Given the description of an element on the screen output the (x, y) to click on. 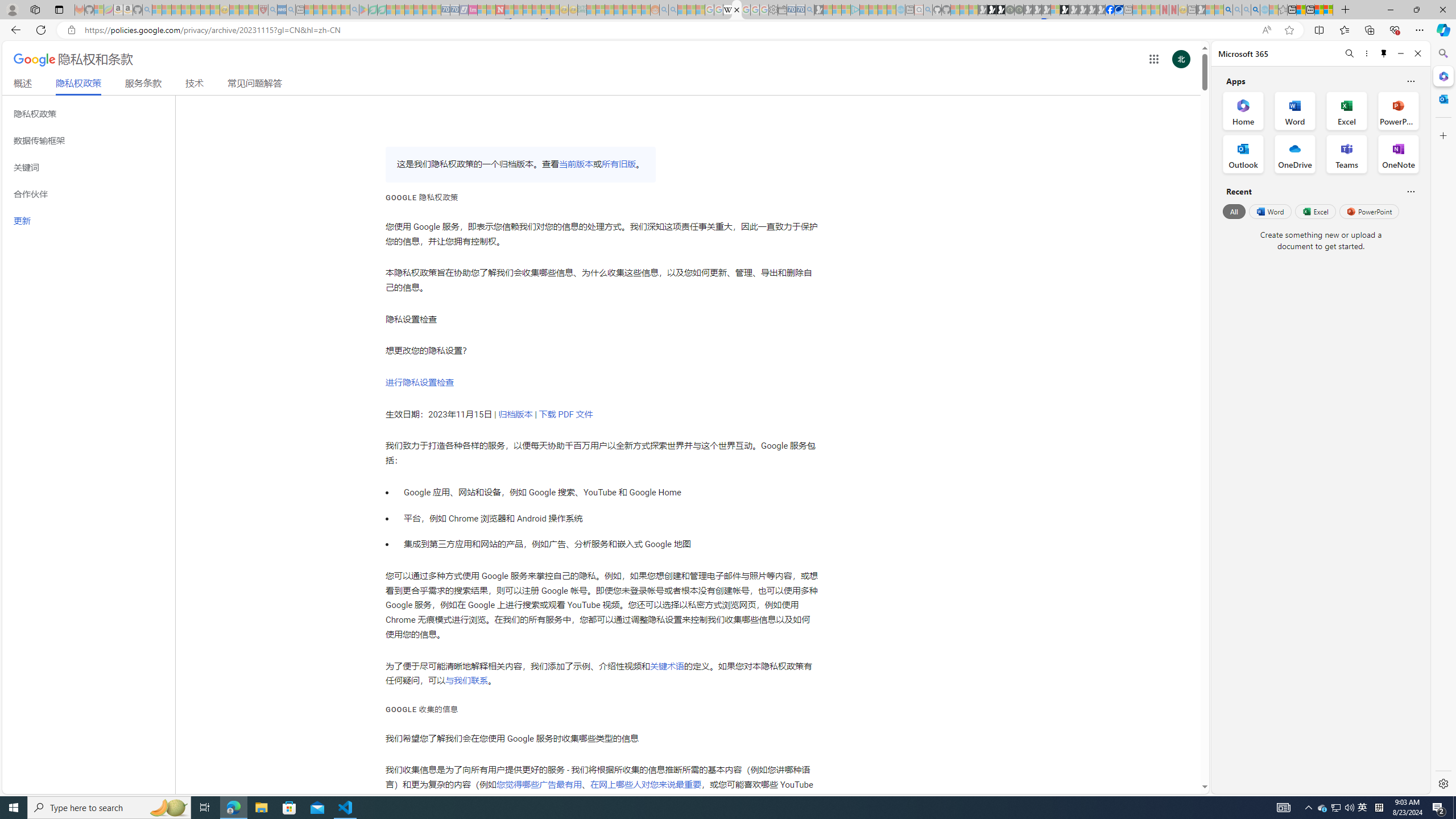
Aberdeen, Hong Kong SAR weather forecast | Microsoft Weather (1300, 9)
Target page - Wikipedia (726, 9)
MSN - Sleeping (1200, 9)
